Given the description of an element on the screen output the (x, y) to click on. 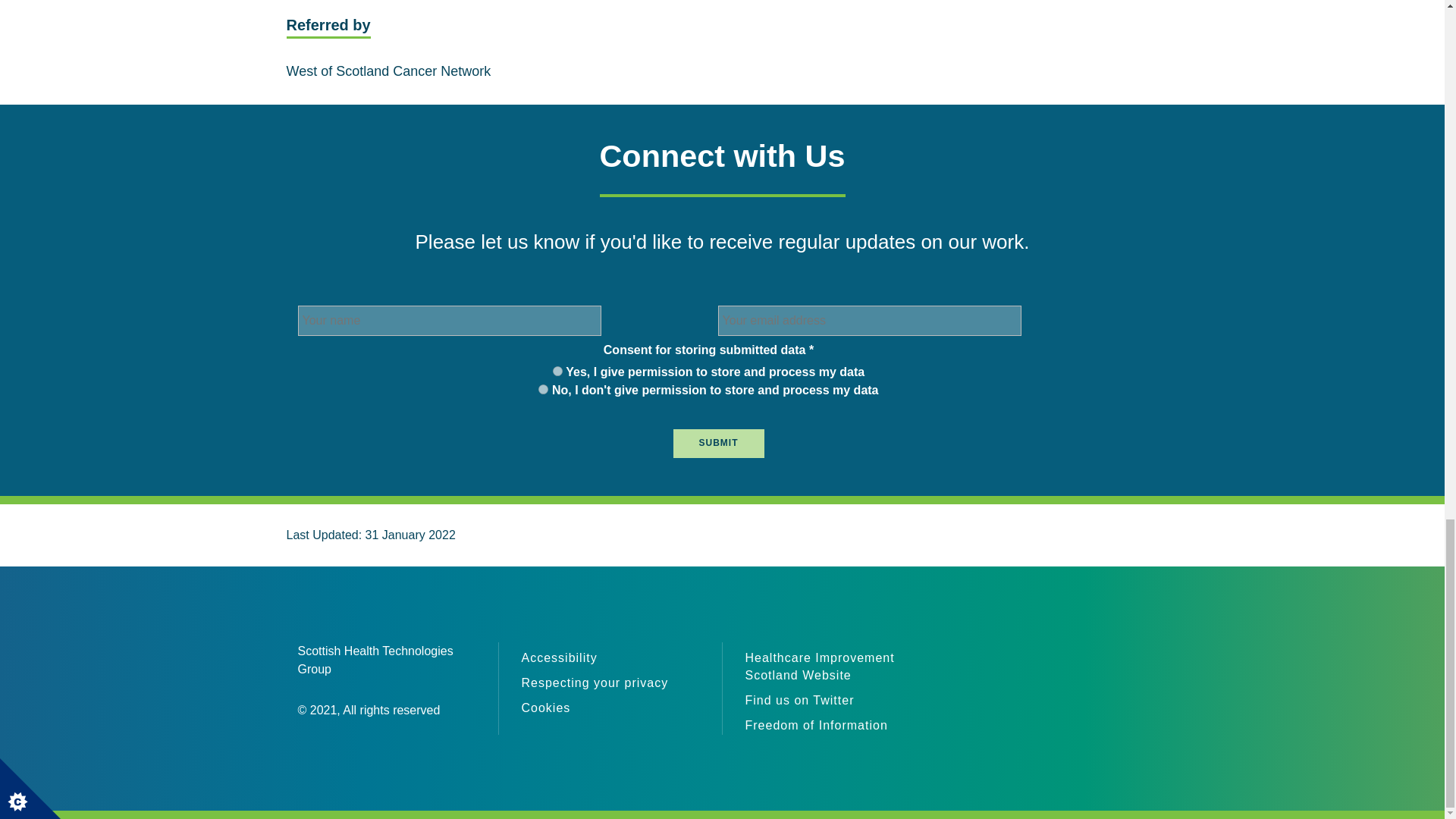
declined (543, 388)
Submit (718, 443)
accepted (557, 370)
